Given the description of an element on the screen output the (x, y) to click on. 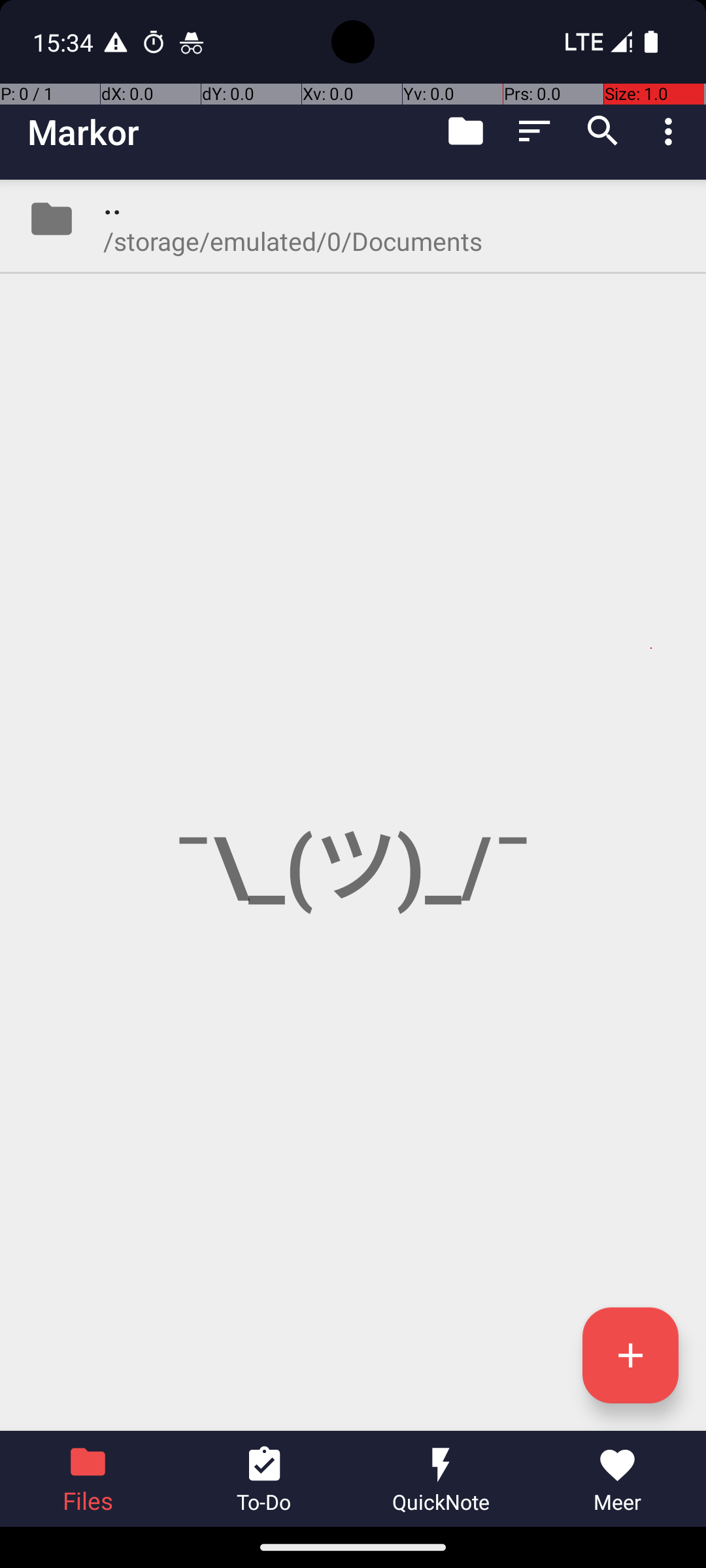
Soek Element type: android.widget.TextView (602, 131)
Meer opsies Element type: android.widget.ImageView (671, 131)
Meer Element type: android.widget.FrameLayout (617, 1478)
¯\_(ツ)_/¯ Element type: android.widget.TextView (353, 804)
Chrome notification: Incognito Tabs Element type: android.widget.ImageView (191, 41)
